Given the description of an element on the screen output the (x, y) to click on. 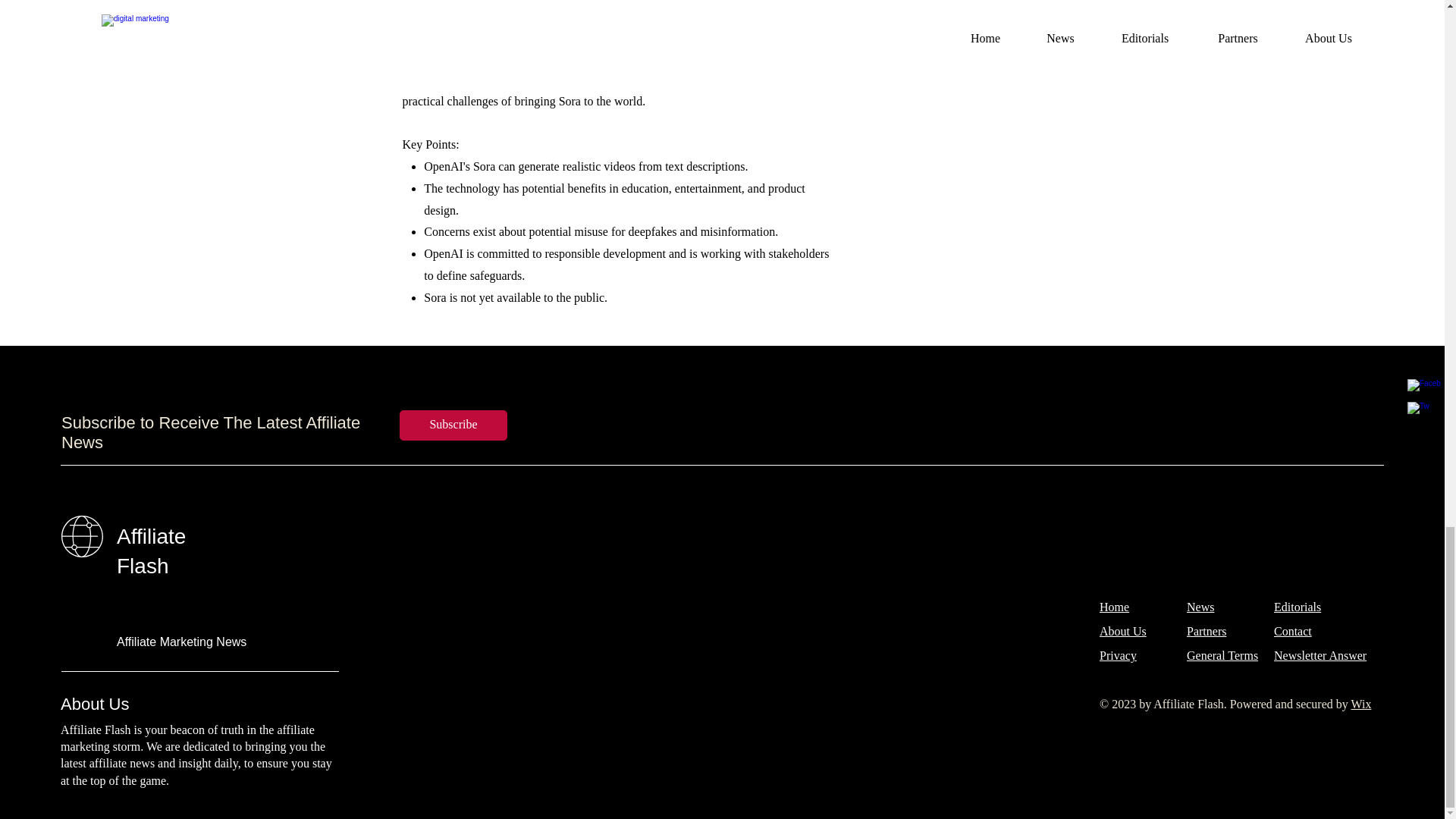
Home (1114, 606)
Affiliate Flash (151, 551)
General Terms (1221, 655)
Contact (1292, 631)
Partners (1205, 631)
Newsletter Answer (1320, 655)
Editorials (1297, 606)
Affiliate Marketing News (181, 641)
News (1200, 606)
Subscribe (452, 425)
